Given the description of an element on the screen output the (x, y) to click on. 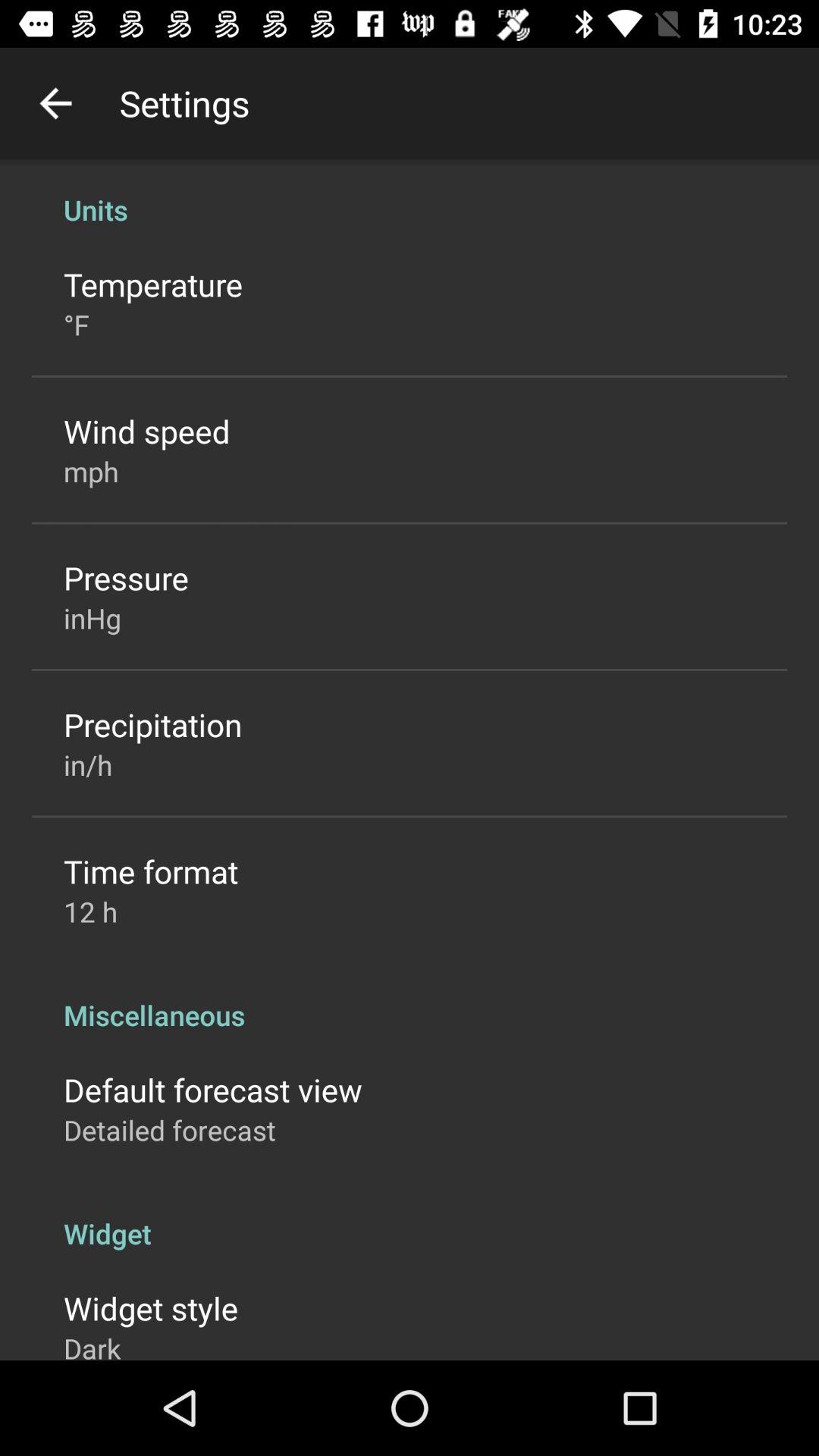
tap icon above the units (55, 103)
